Given the description of an element on the screen output the (x, y) to click on. 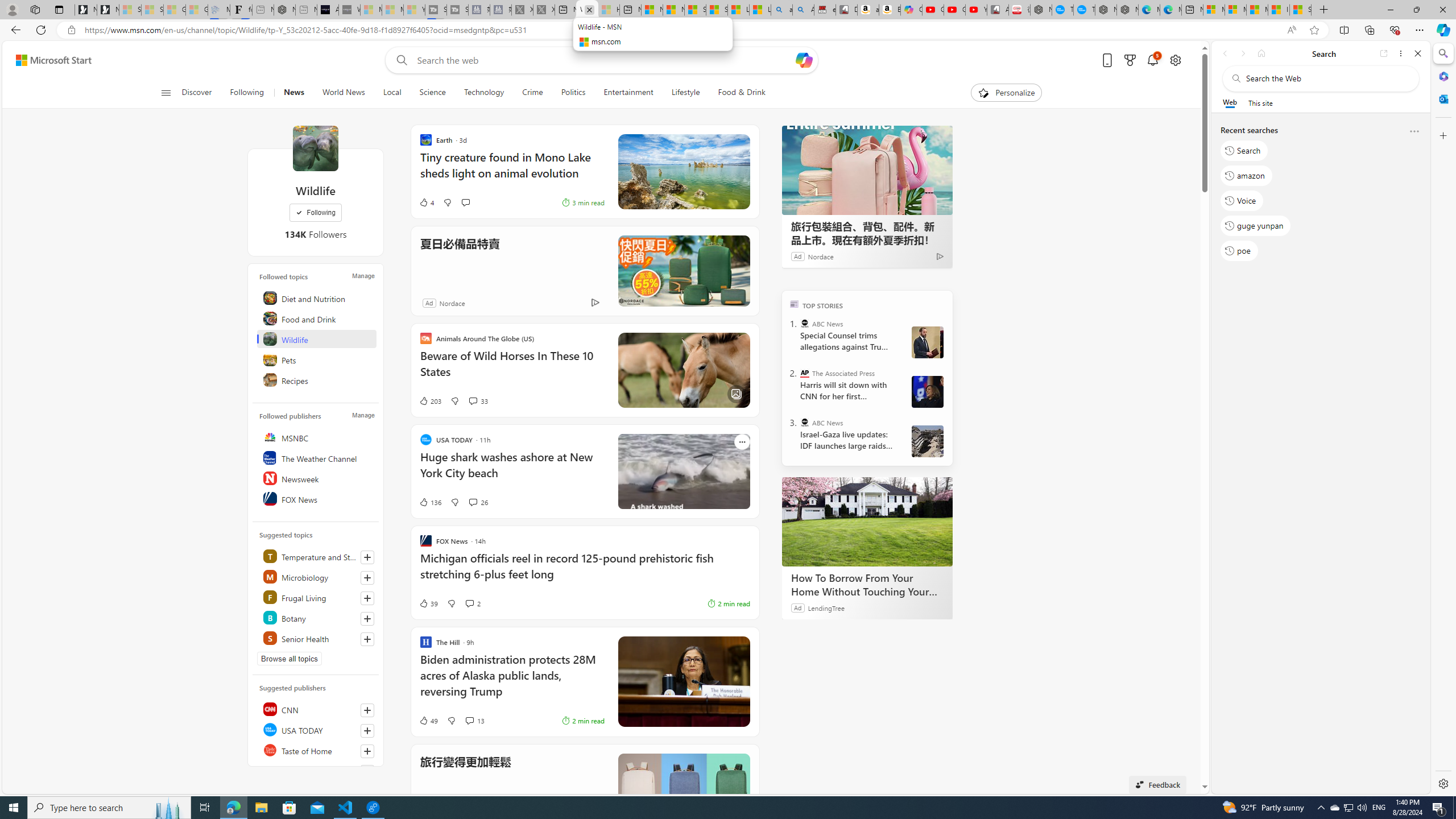
Outlook (1442, 98)
136 Like (429, 502)
Side bar (1443, 418)
Recent searchesSearchamazonVoiceguge yunpanpoe (1320, 194)
View comments 13 Comment (469, 719)
ABC News (804, 422)
Microsoft Start - Sleeping (392, 9)
poe (1238, 250)
